Given the description of an element on the screen output the (x, y) to click on. 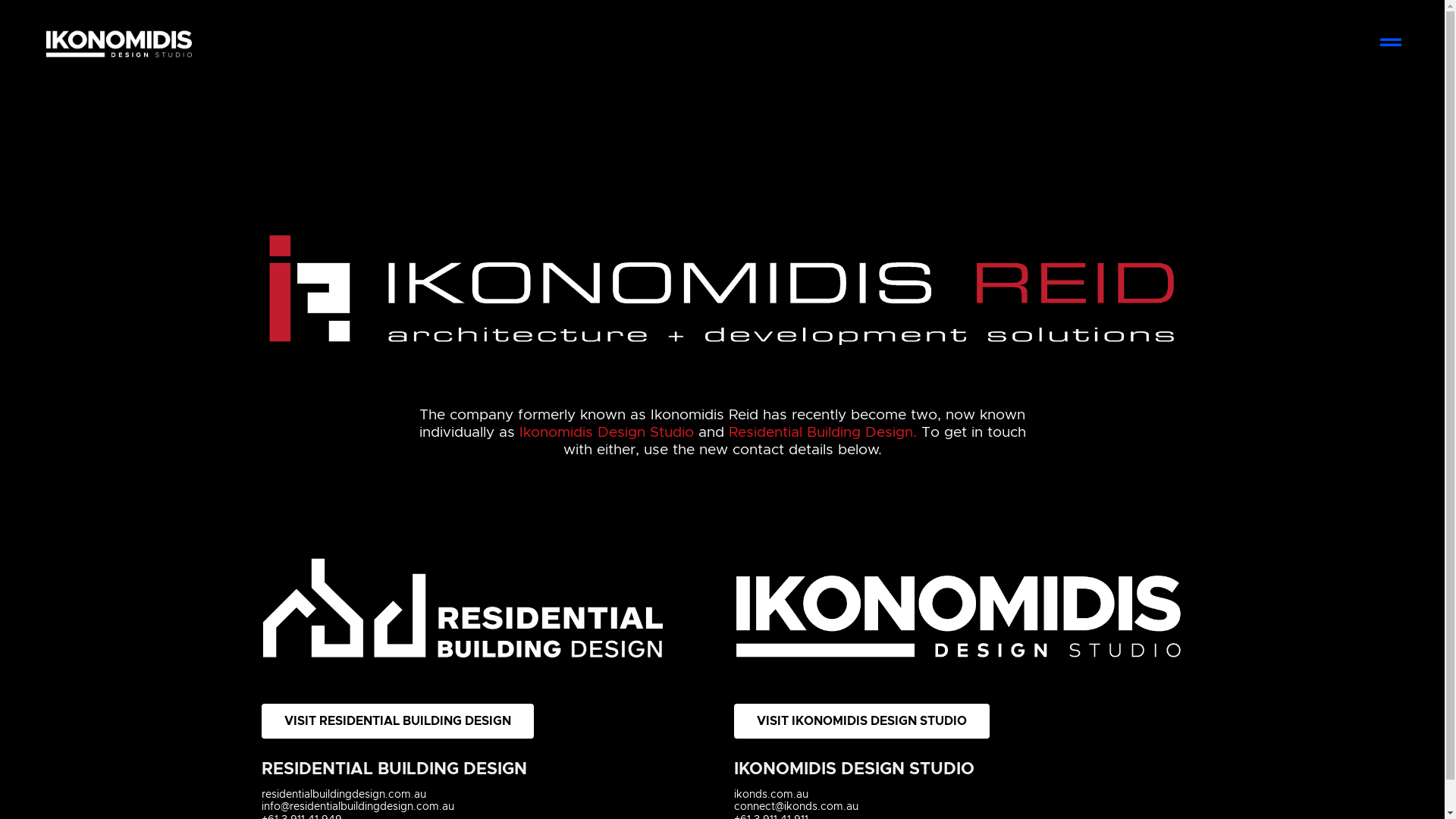
residentialbuildingdesign.com.au Element type: text (343, 794)
VISIT RESIDENTIAL BUILDING DESIGN Element type: text (397, 720)
ikonds.com.au Element type: text (771, 794)
connect@ikonds.com.au Element type: text (796, 806)
Ikonomidis_Master_Logo Element type: hover (118, 43)
info@residentialbuildingdesign.com.au Element type: text (357, 806)
VISIT IKONOMIDIS DESIGN STUDIO Element type: text (861, 720)
